Given the description of an element on the screen output the (x, y) to click on. 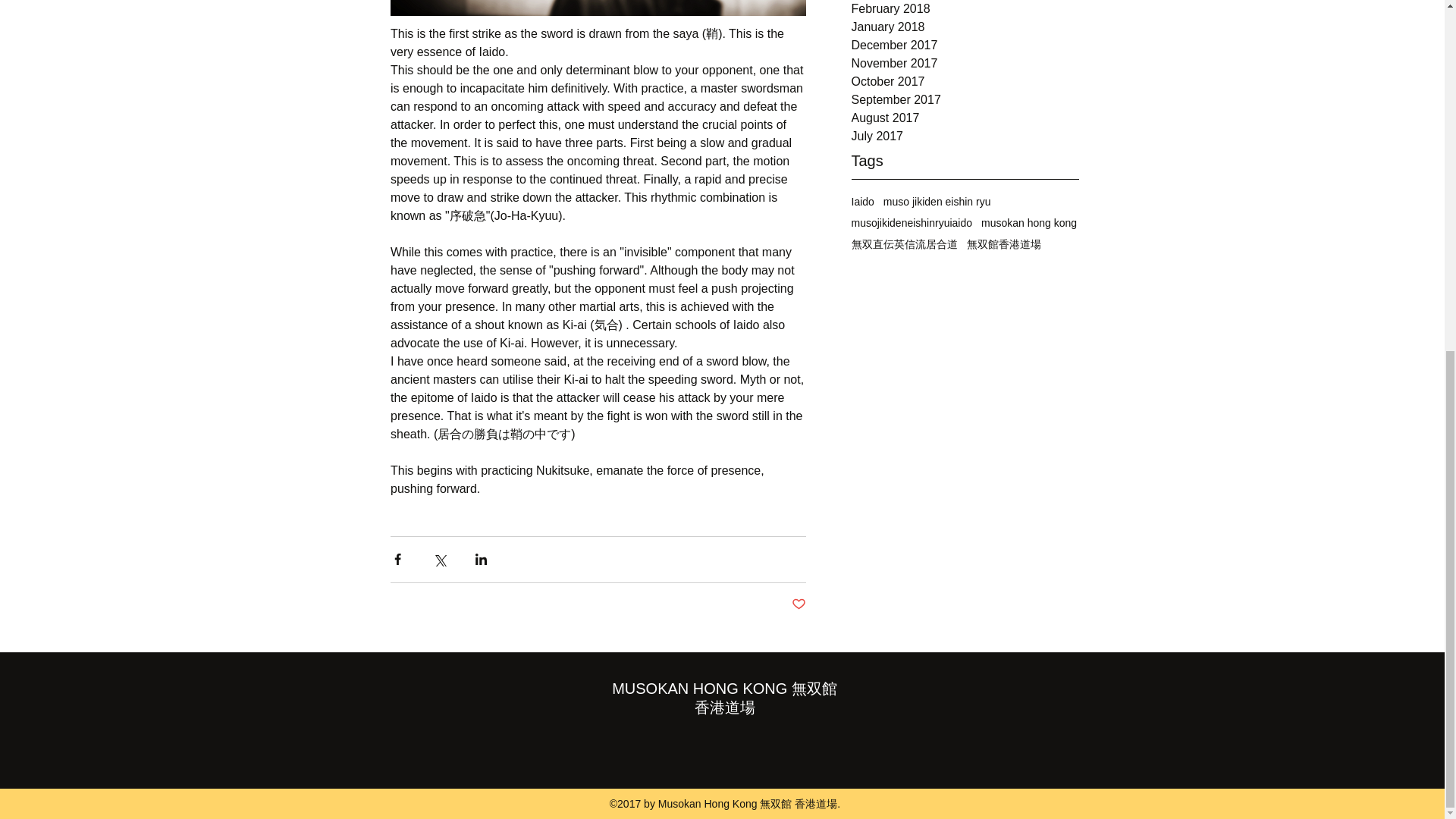
musokan hong kong (1029, 223)
September 2017 (964, 99)
Post not marked as liked (799, 604)
October 2017 (964, 81)
Iaido (861, 201)
February 2018 (964, 9)
November 2017 (964, 63)
July 2017 (964, 136)
January 2018 (964, 27)
muso jikiden eishin ryu (937, 201)
musojikideneishinryuiaido (911, 223)
December 2017 (964, 45)
August 2017 (964, 117)
